Given the description of an element on the screen output the (x, y) to click on. 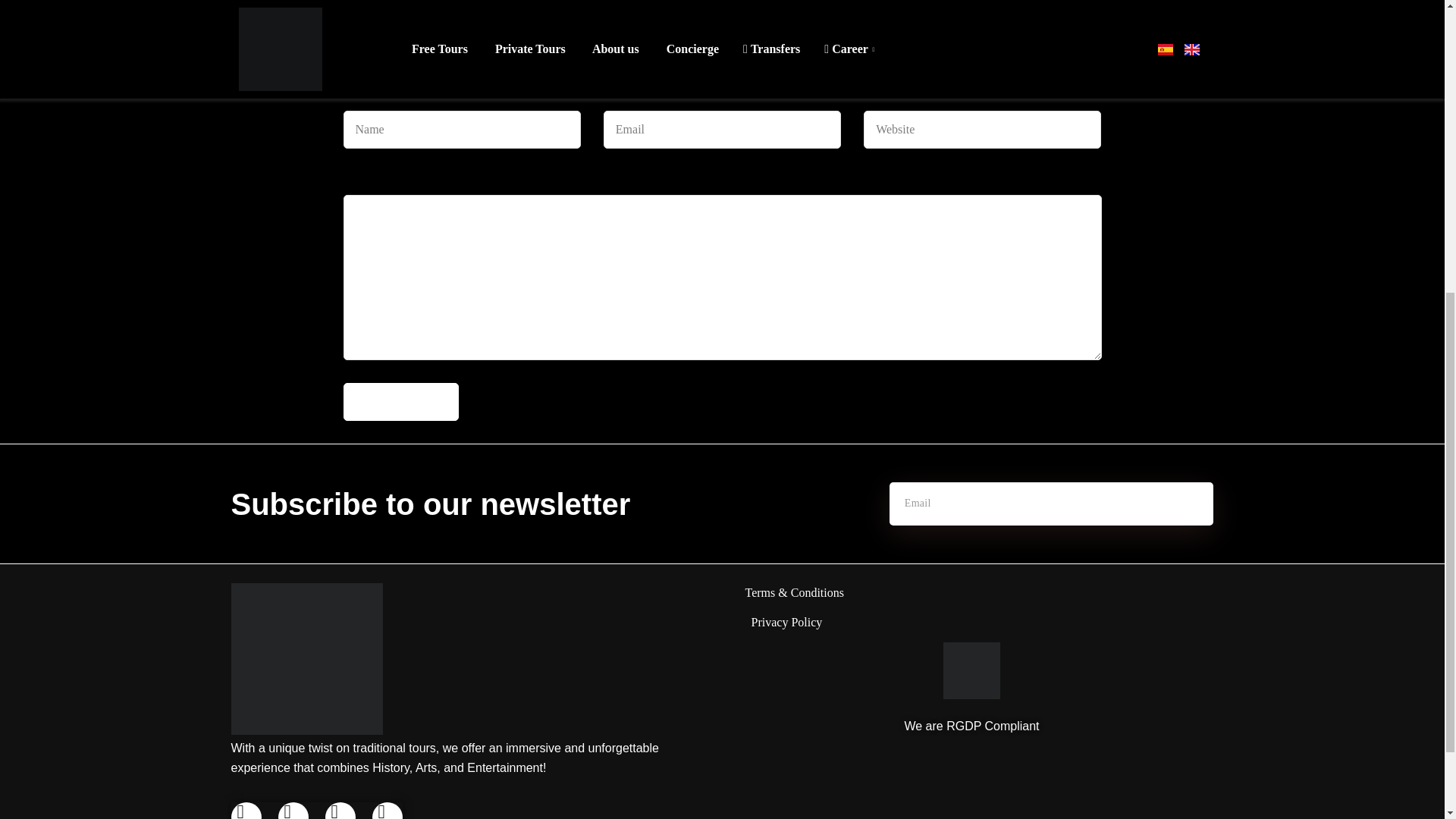
Post Comment (400, 401)
Post Comment (400, 401)
Subscribe Now (1144, 503)
  Privacy Policy (783, 621)
